Given the description of an element on the screen output the (x, y) to click on. 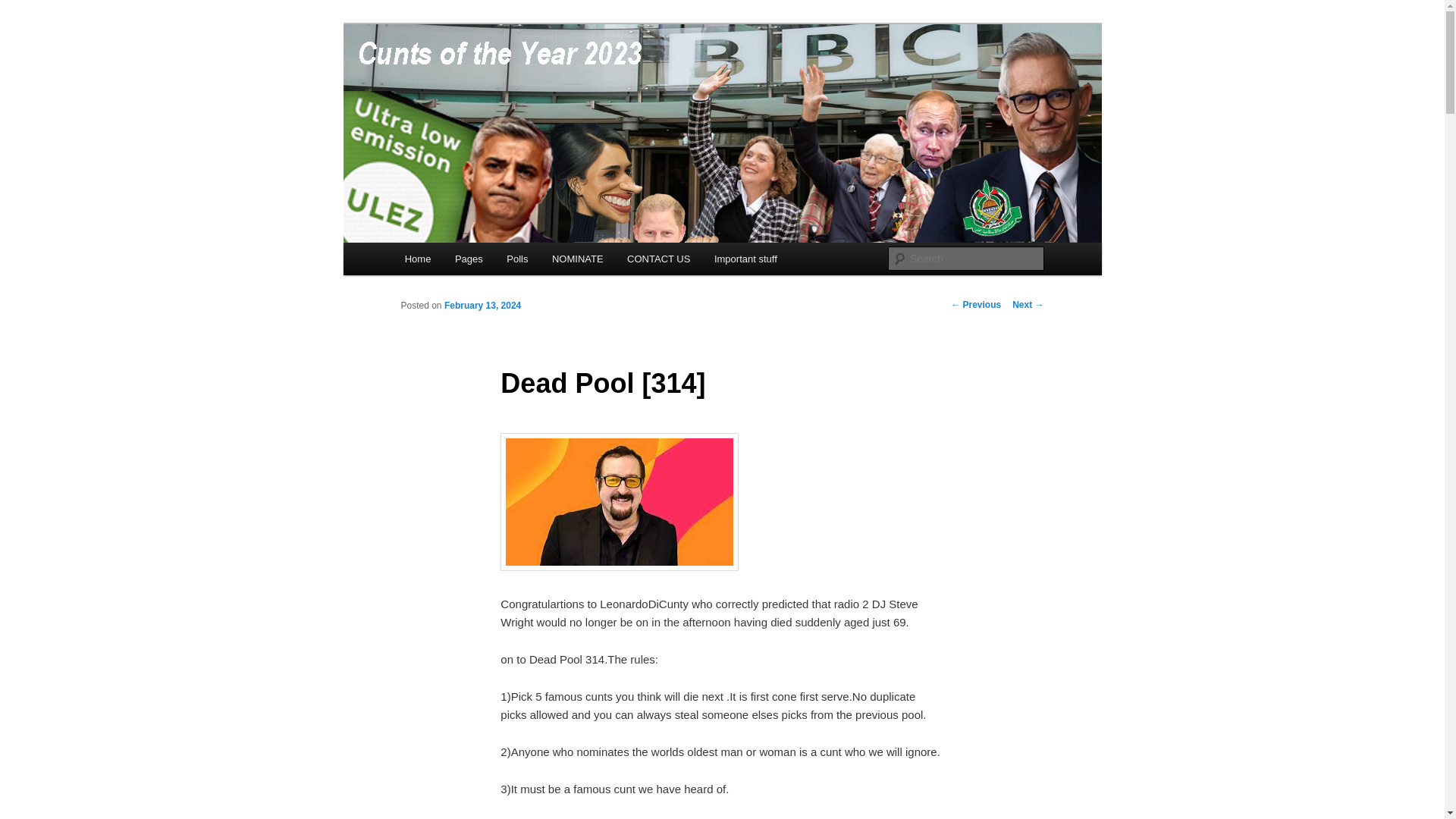
February 13, 2024 (482, 305)
Polls (517, 258)
NOMINATE (577, 258)
Search (24, 8)
Important stuff (745, 258)
CONTACT US (657, 258)
Pages (468, 258)
Home (417, 258)
